Given the description of an element on the screen output the (x, y) to click on. 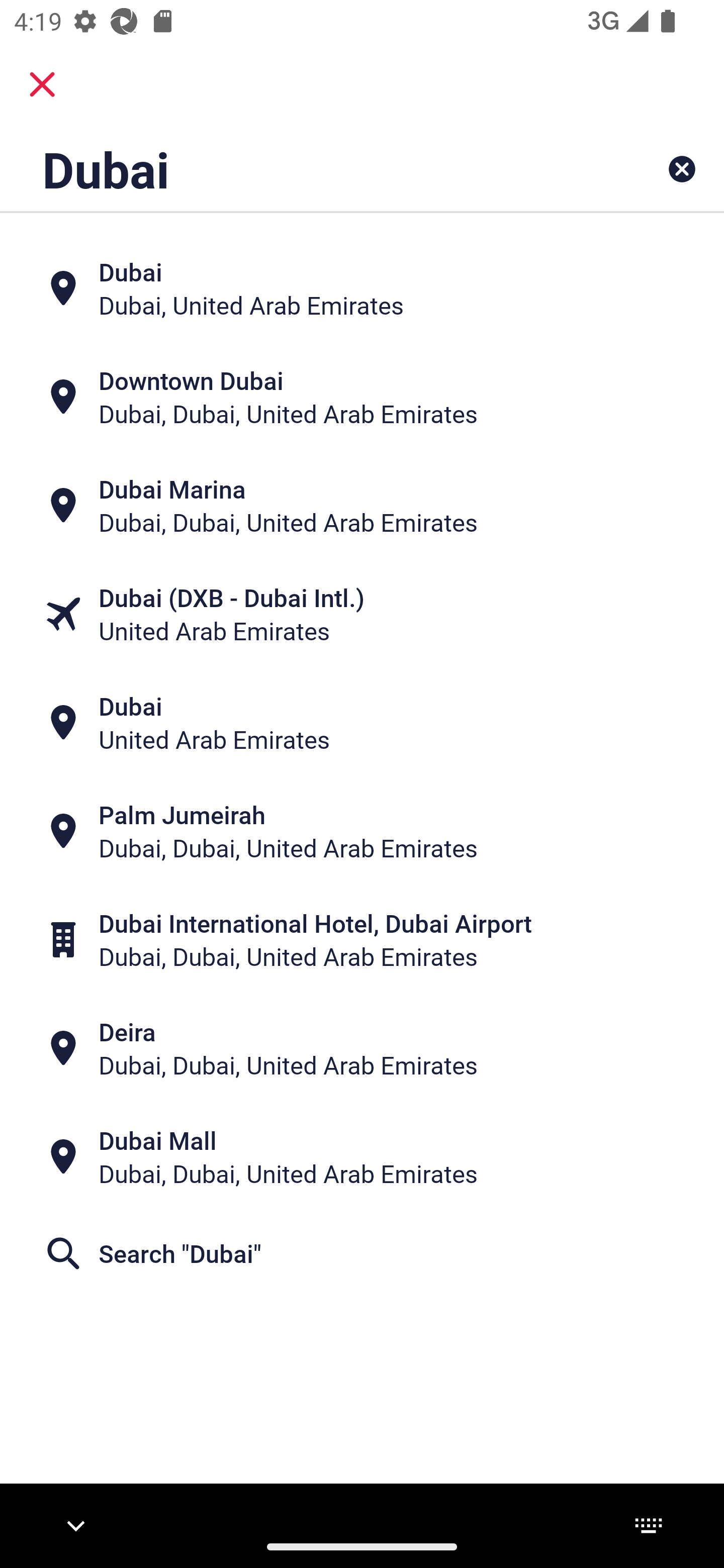
close. (42, 84)
Clear (681, 169)
Dubai (298, 169)
Dubai Dubai, United Arab Emirates (362, 288)
Downtown Dubai Dubai, Dubai, United Arab Emirates (362, 397)
Dubai Marina Dubai, Dubai, United Arab Emirates (362, 505)
Dubai (DXB - Dubai Intl.) United Arab Emirates (362, 613)
Dubai United Arab Emirates (362, 722)
Palm Jumeirah Dubai, Dubai, United Arab Emirates (362, 831)
Deira Dubai, Dubai, United Arab Emirates (362, 1048)
Dubai Mall Dubai, Dubai, United Arab Emirates (362, 1156)
Search "Dubai" (362, 1252)
